Given the description of an element on the screen output the (x, y) to click on. 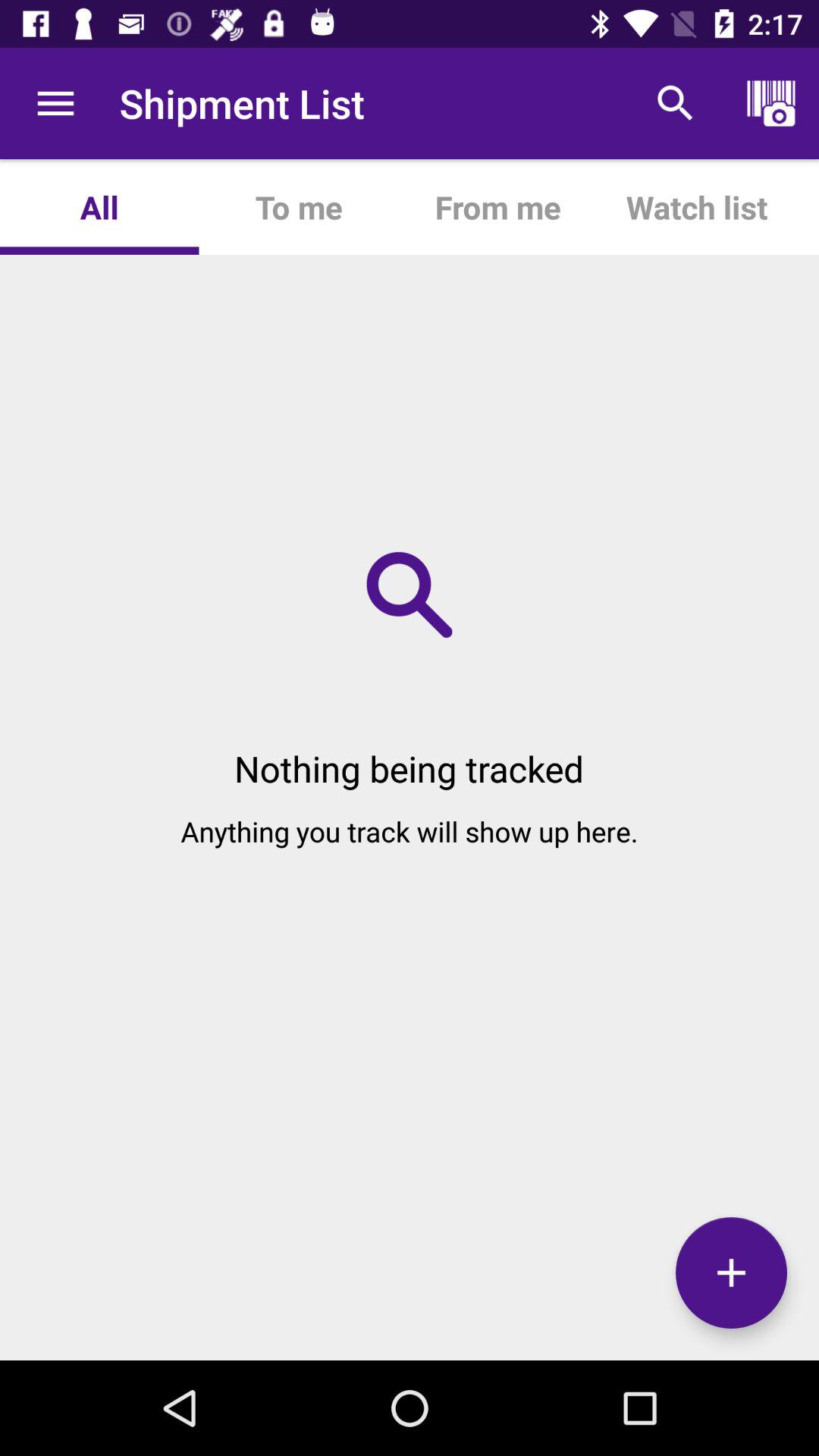
click the icon to the left of the from me app (298, 206)
